Given the description of an element on the screen output the (x, y) to click on. 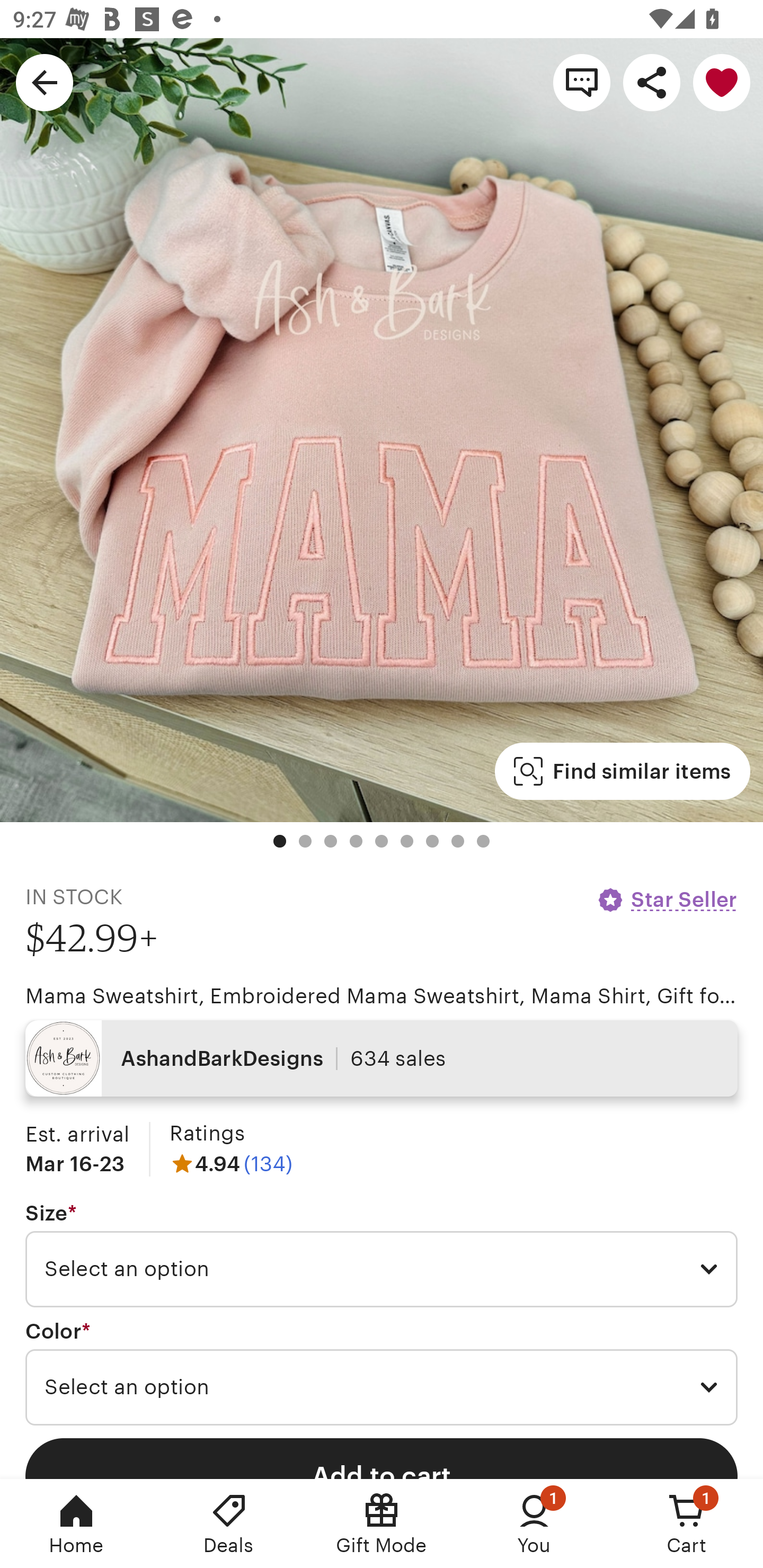
Navigate up (44, 81)
Contact shop (581, 81)
Share (651, 81)
Find similar items (622, 771)
Star Seller (666, 899)
AshandBarkDesigns 634 sales (381, 1058)
Ratings (206, 1133)
4.94 (134) (230, 1163)
Size * Required Select an option (381, 1254)
Select an option (381, 1268)
Color * Required Select an option (381, 1372)
Select an option (381, 1386)
Deals (228, 1523)
Gift Mode (381, 1523)
You, 1 new notification You (533, 1523)
Cart, 1 new notification Cart (686, 1523)
